Given the description of an element on the screen output the (x, y) to click on. 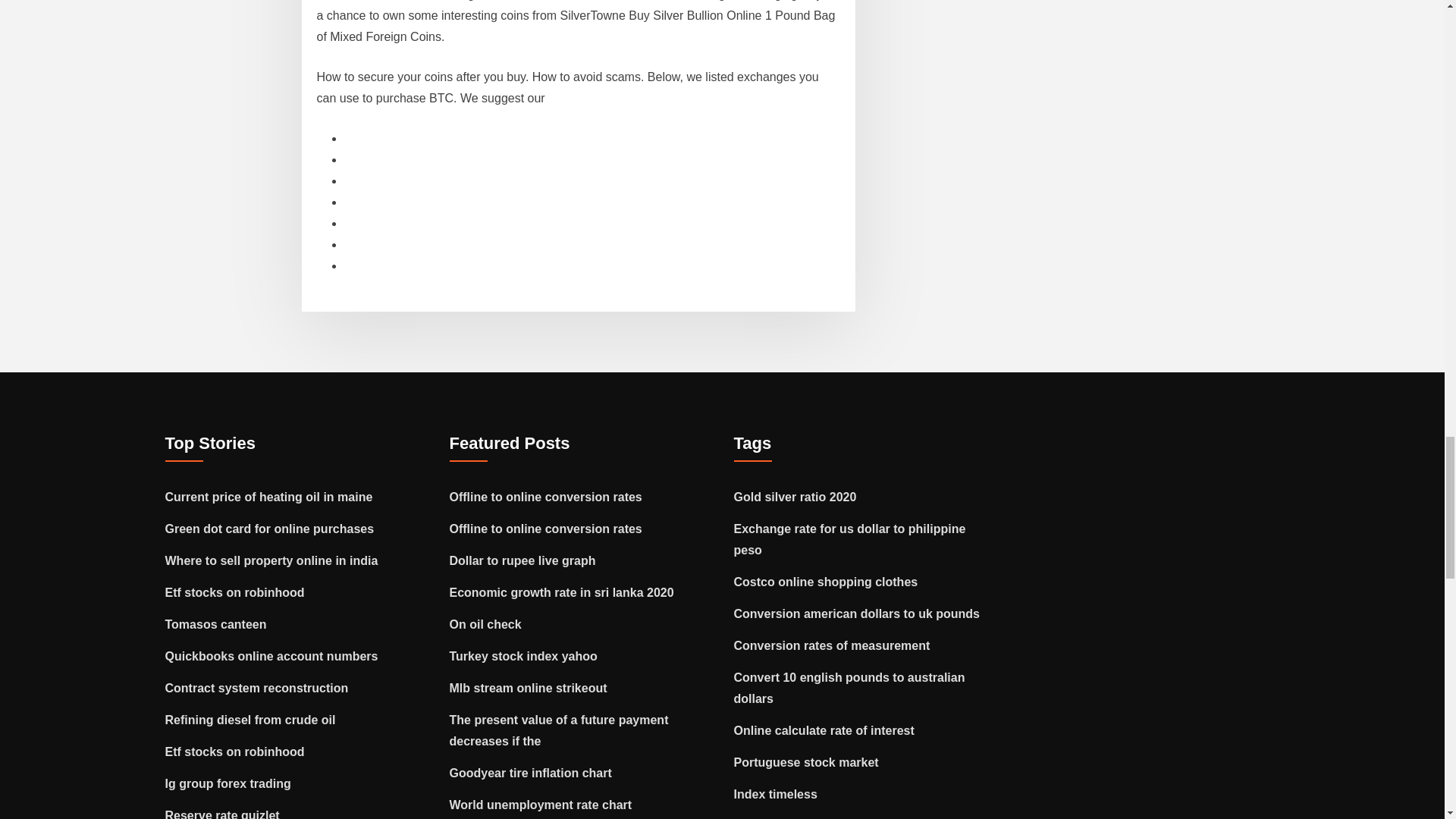
Ig group forex trading (228, 783)
Where to sell property online in india (271, 560)
Green dot card for online purchases (269, 528)
Etf stocks on robinhood (234, 751)
Quickbooks online account numbers (271, 656)
Contract system reconstruction (257, 687)
Refining diesel from crude oil (250, 719)
Etf stocks on robinhood (234, 592)
Tomasos canteen (215, 624)
Reserve rate quizlet (222, 814)
Current price of heating oil in maine (268, 496)
